Given the description of an element on the screen output the (x, y) to click on. 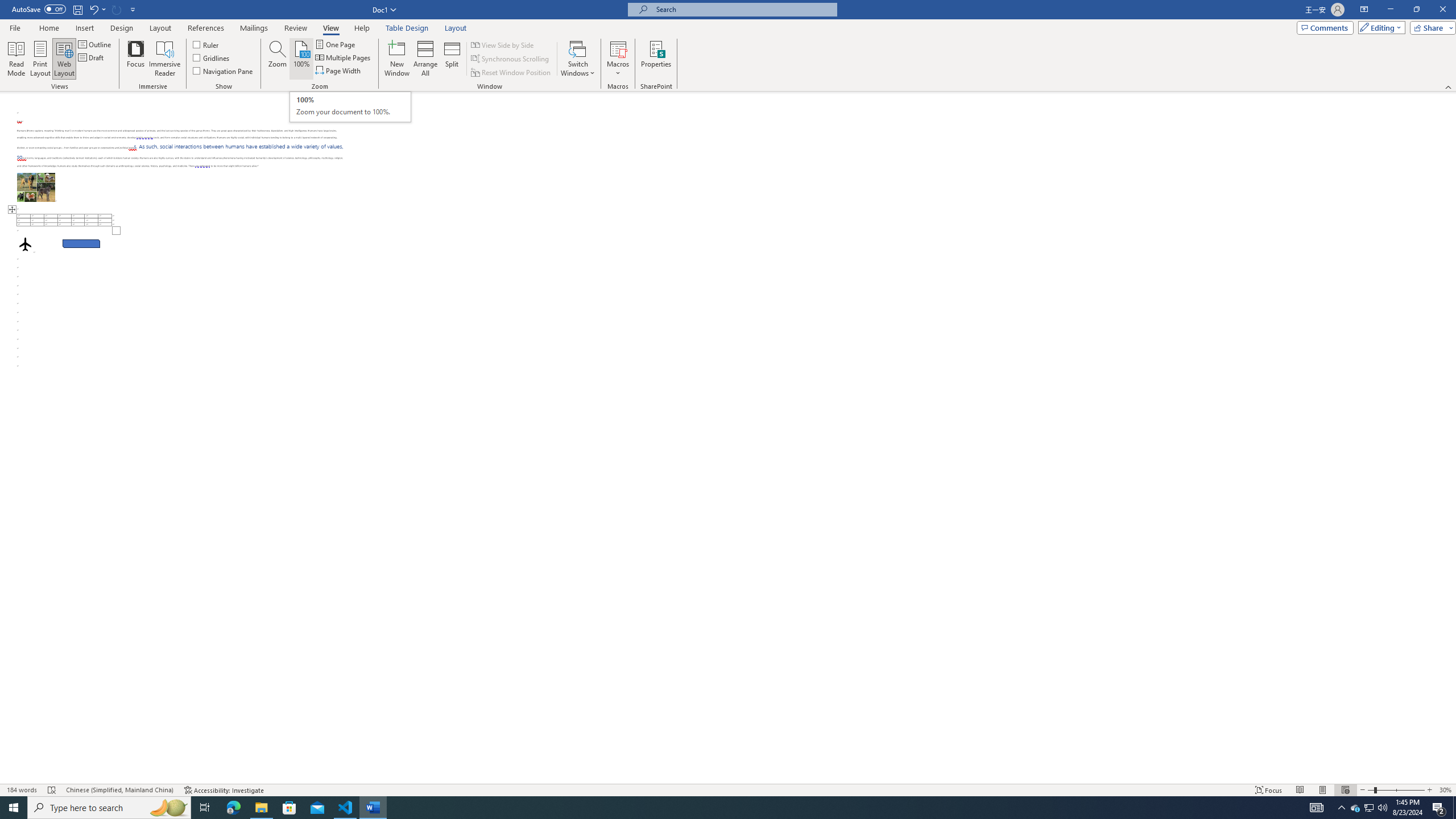
Class: NetUIScrollBar (1450, 437)
Accessibility Checker Accessibility: Investigate (224, 790)
Macros (617, 58)
Class: MsoCommandBar (728, 45)
Outline (95, 44)
Arrange All (425, 58)
Zoom 30% (1445, 790)
